Given the description of an element on the screen output the (x, y) to click on. 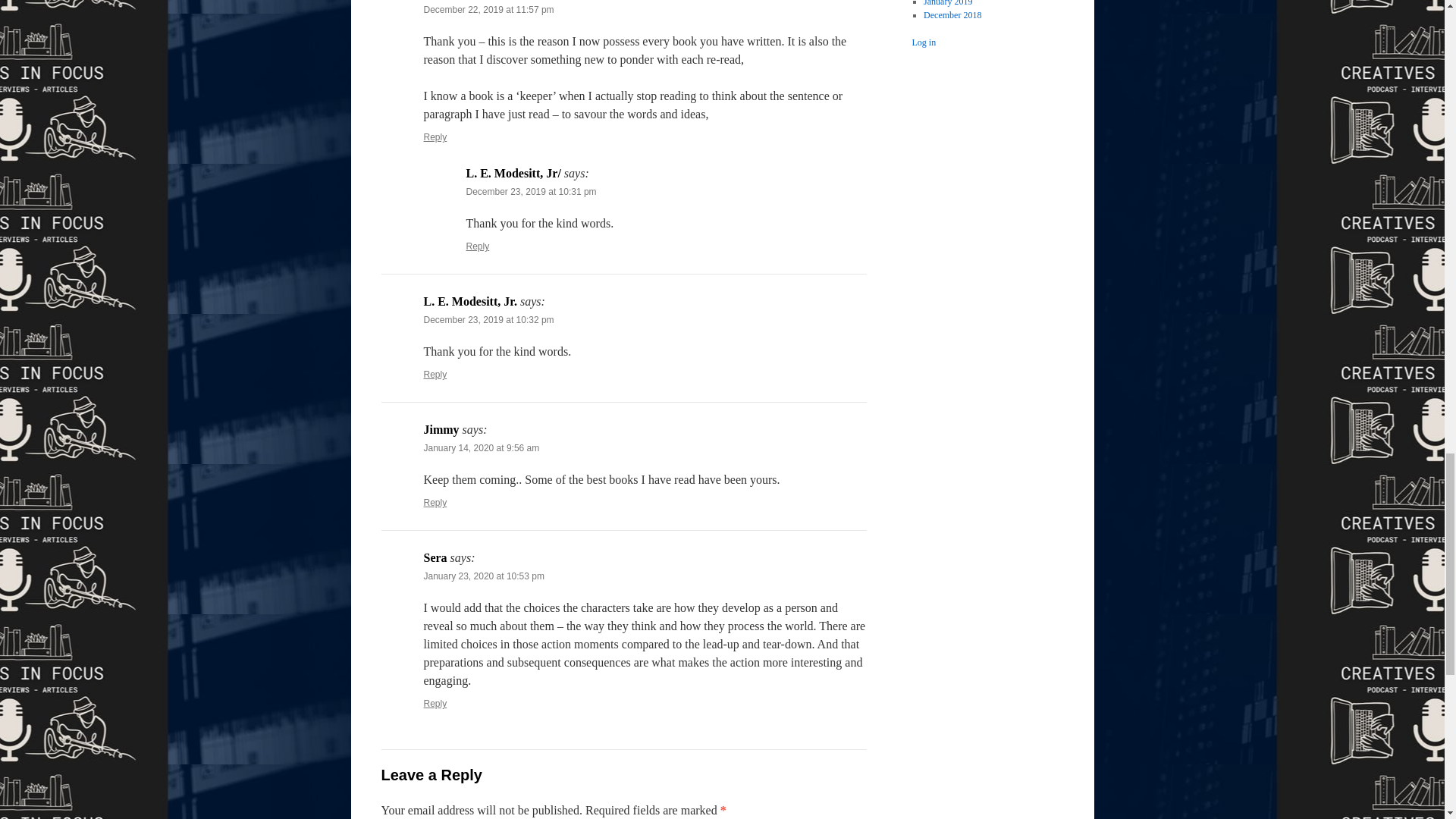
Reply (477, 245)
December 23, 2019 at 10:32 pm (488, 319)
December 22, 2019 at 11:57 pm (488, 9)
Reply (434, 374)
December 23, 2019 at 10:31 pm (530, 191)
January 14, 2020 at 9:56 am (480, 448)
Reply (434, 136)
Reply (434, 703)
January 23, 2020 at 10:53 pm (483, 575)
Reply (434, 502)
